Given the description of an element on the screen output the (x, y) to click on. 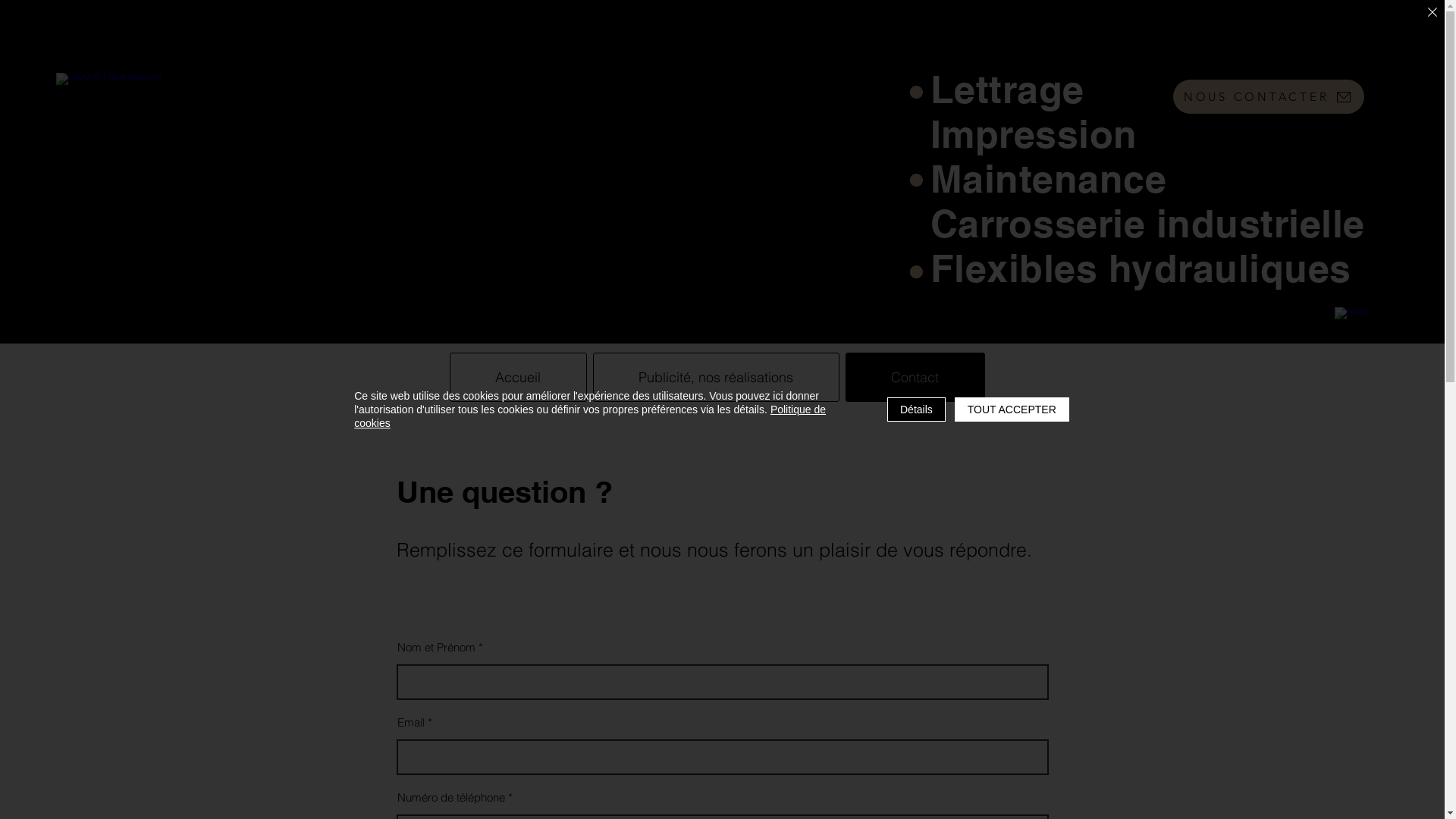
Accueil Element type: text (517, 376)
Politique de cookies Element type: text (589, 416)
Contact Element type: text (914, 376)
TOUT ACCEPTER Element type: text (1011, 409)
NOUS CONTACTER Element type: text (1267, 96)
